Given the description of an element on the screen output the (x, y) to click on. 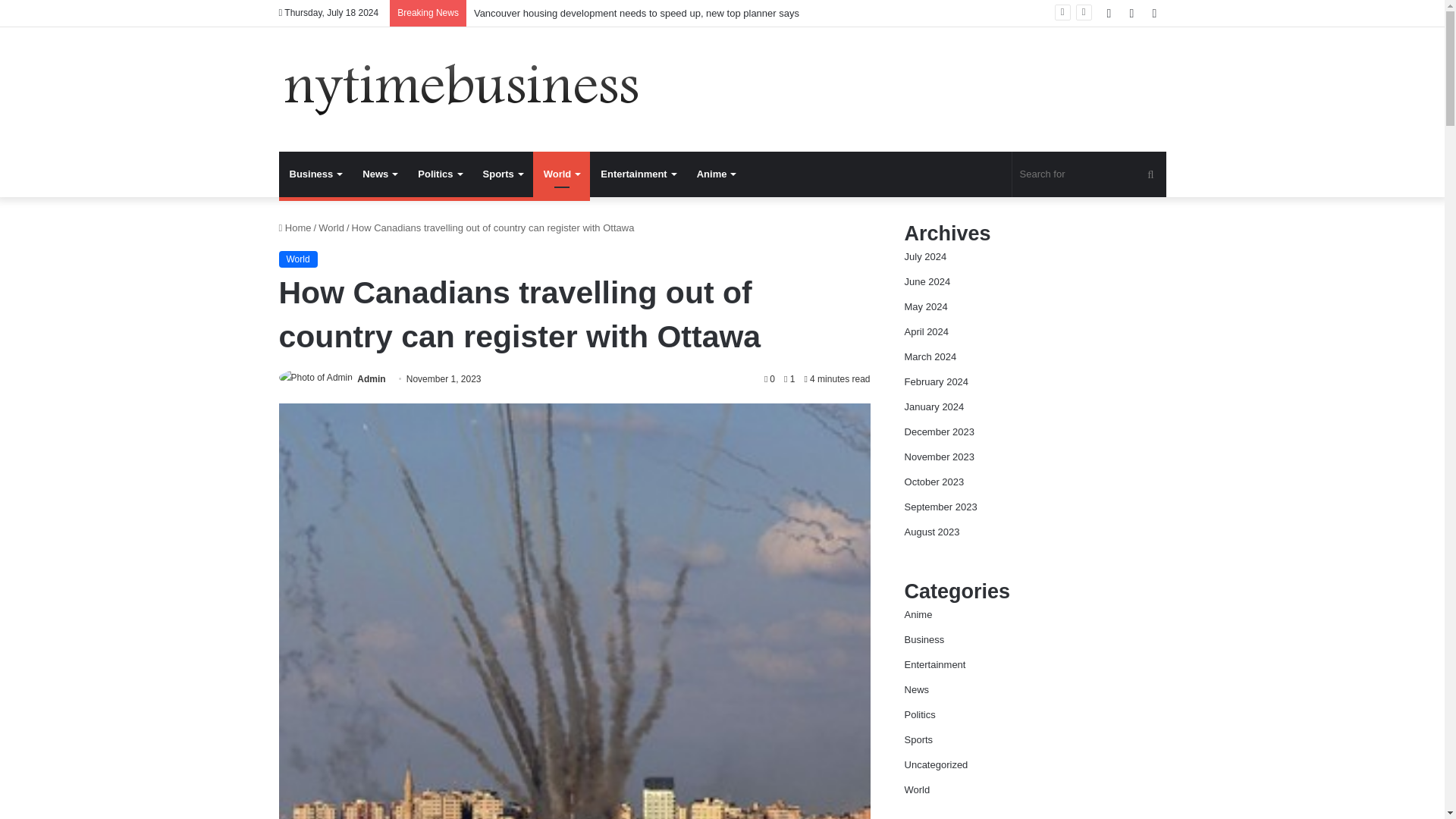
Search for (1088, 174)
nytimebusiness (462, 89)
Business (315, 174)
Admin (370, 378)
World (298, 258)
Sports (501, 174)
News (379, 174)
Anime (715, 174)
World (330, 227)
Entertainment (637, 174)
Politics (439, 174)
Admin (370, 378)
Home (295, 227)
World (561, 174)
